Given the description of an element on the screen output the (x, y) to click on. 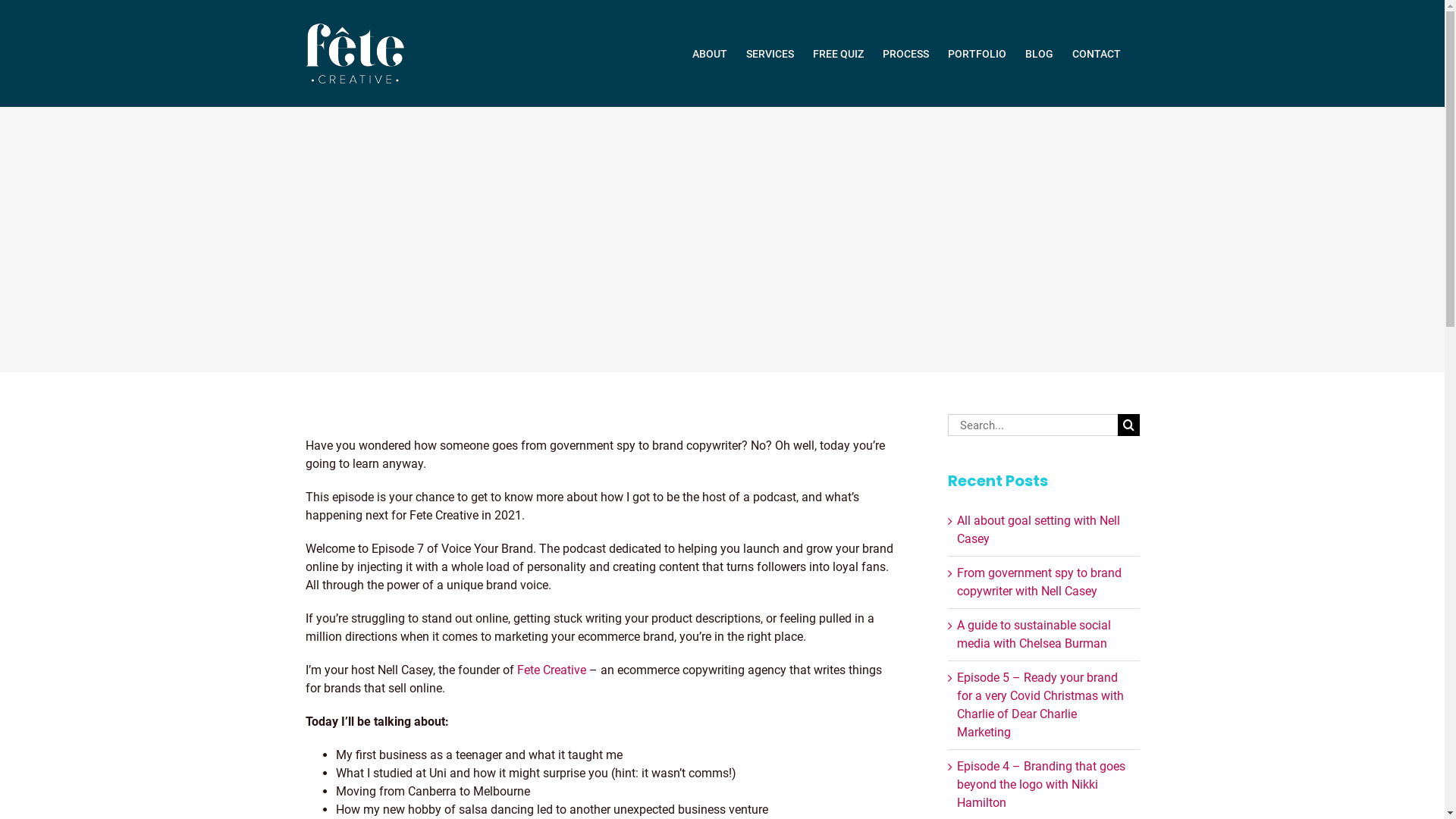
FREE QUIZ Element type: text (837, 53)
PORTFOLIO Element type: text (976, 53)
All about goal setting with Nell Casey Element type: text (1038, 529)
PROCESS Element type: text (905, 53)
BLOG Element type: text (1039, 53)
A guide to sustainable social media with Chelsea Burman Element type: text (1033, 634)
SERVICES Element type: text (769, 53)
Fete Creative Element type: text (551, 669)
ABOUT Element type: text (708, 53)
From government spy to brand copywriter with Nell Casey Element type: text (1039, 581)
CONTACT Element type: text (1096, 53)
